Given the description of an element on the screen output the (x, y) to click on. 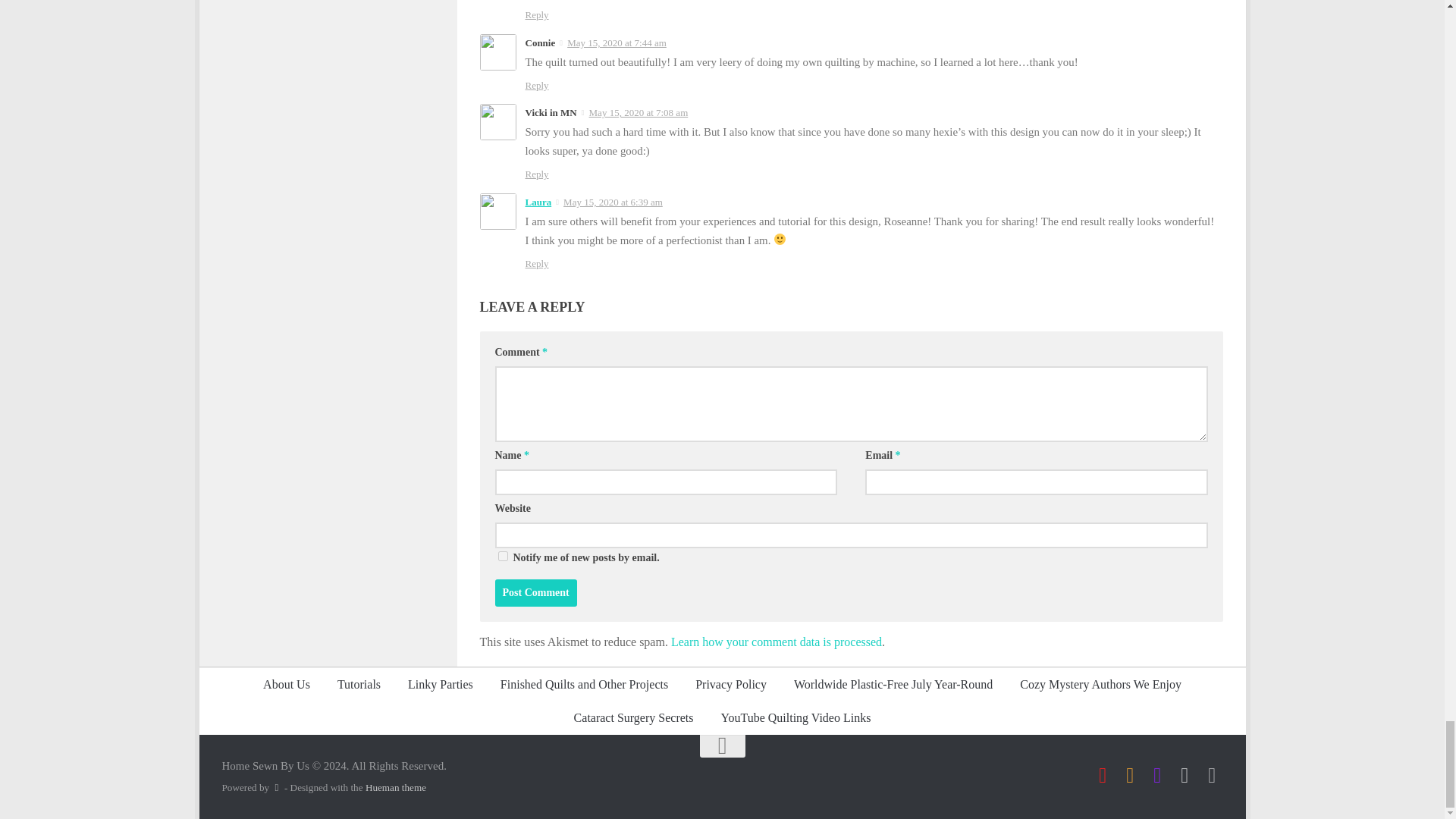
Post Comment (535, 592)
subscribe (501, 556)
